Given the description of an element on the screen output the (x, y) to click on. 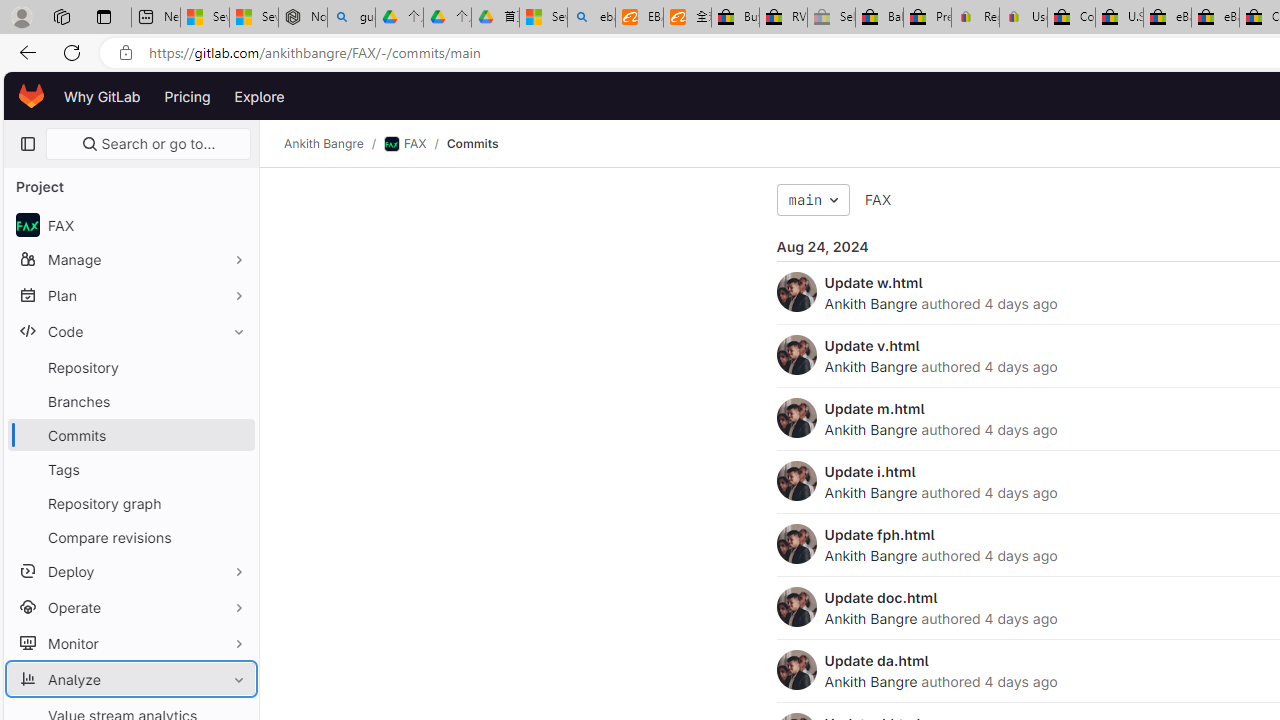
Ankith Bangre's avatar (795, 669)
Repository (130, 367)
Compare revisions (130, 536)
Press Room - eBay Inc. (927, 17)
Plan (130, 295)
Operate (130, 606)
Why GitLab (102, 95)
Update doc.html (881, 597)
FAX (878, 200)
Update i.html (870, 471)
avatar (27, 224)
Repository graph (130, 502)
Branches (130, 400)
